Given the description of an element on the screen output the (x, y) to click on. 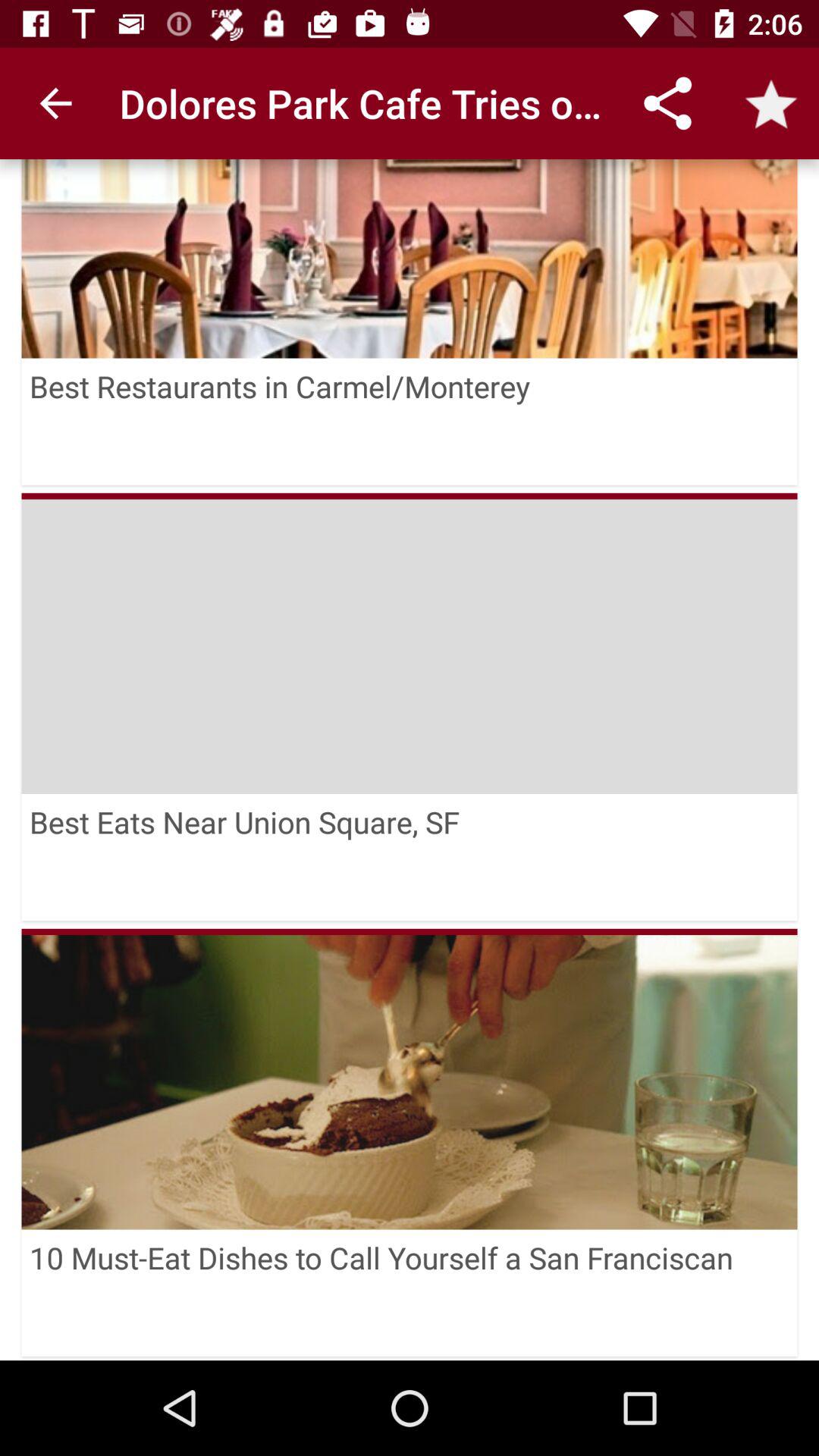
choose item below the best eats near item (409, 1078)
